Given the description of an element on the screen output the (x, y) to click on. 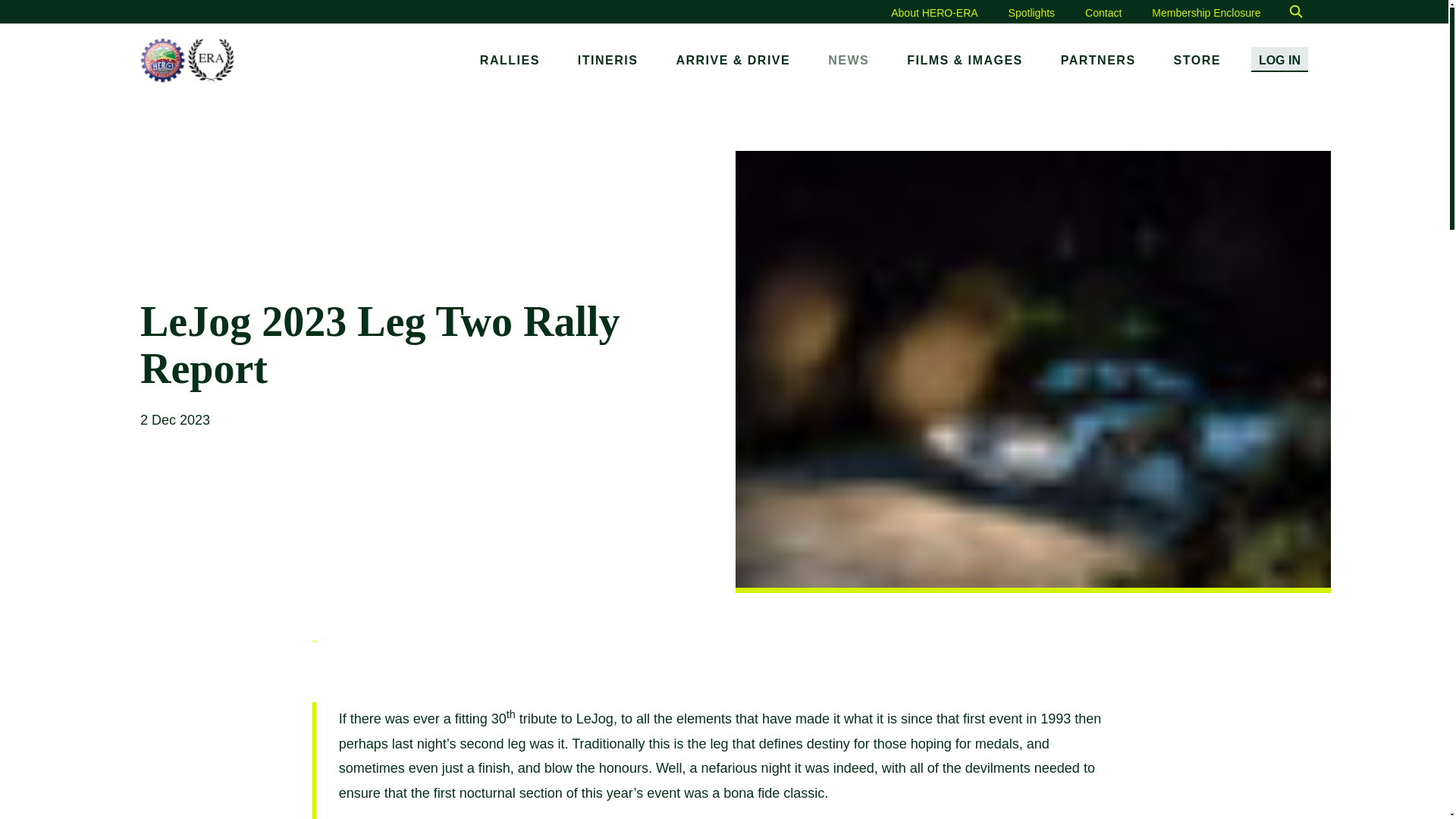
LOG IN (1278, 59)
RALLIES (509, 60)
Home (186, 59)
ITINERIS (607, 60)
STORE (1197, 60)
About HERO-ERA (933, 11)
Search (1294, 11)
NEWS (847, 60)
Contact (1102, 11)
PARTNERS (1098, 60)
Skip to content (24, 3)
Membership Enclosure (1205, 11)
Spotlights (1031, 11)
